Given the description of an element on the screen output the (x, y) to click on. 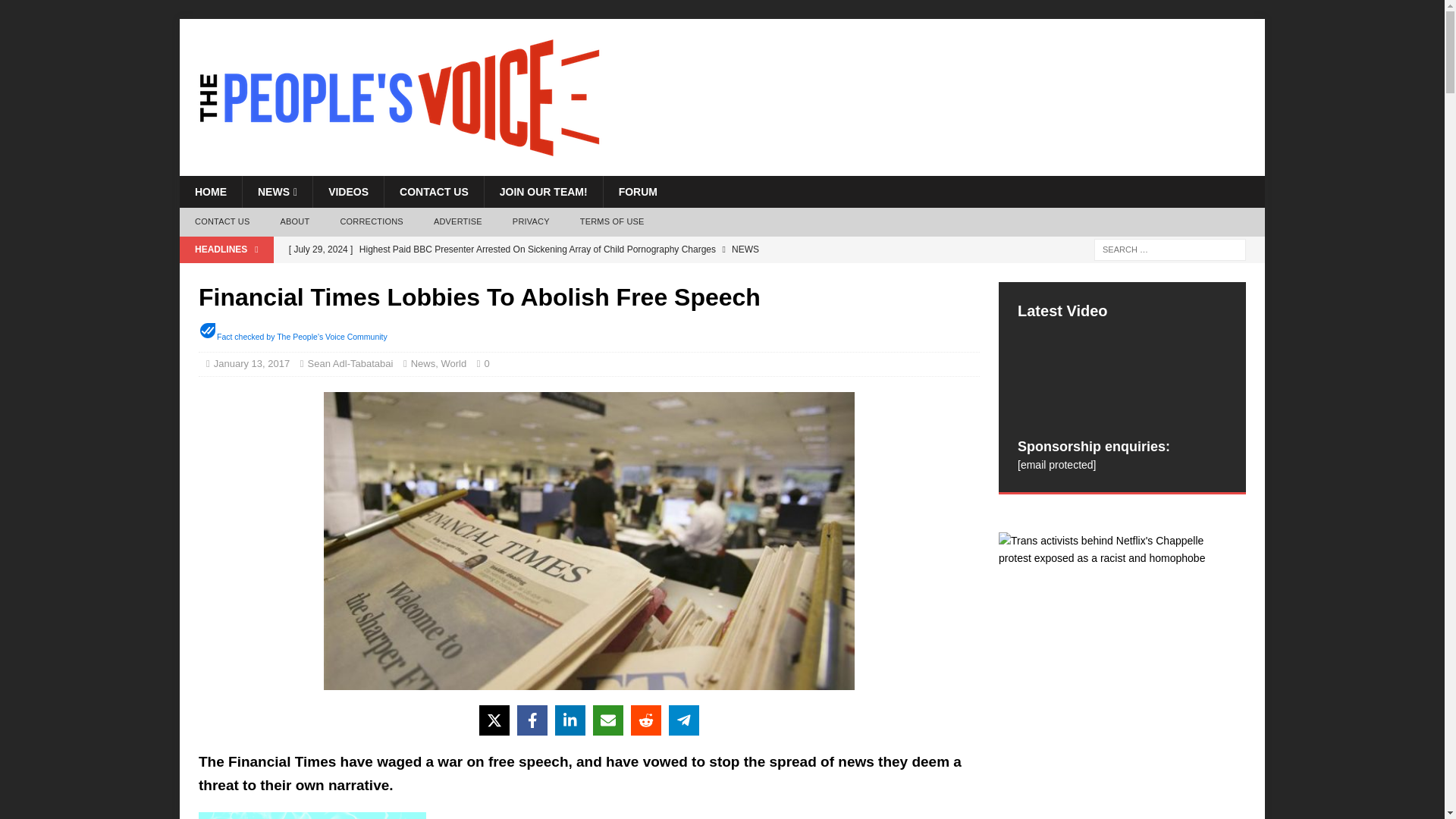
Sean Adl-Tabatabai (350, 363)
VIDEOS (348, 192)
January 13, 2017 (251, 363)
FORUM (637, 192)
World (453, 363)
HOME (210, 192)
NEWS (277, 192)
TERMS OF USE (611, 222)
ABOUT (294, 222)
PRIVACY (530, 222)
CONTACT US (221, 222)
ADVERTISE (458, 222)
